Given the description of an element on the screen output the (x, y) to click on. 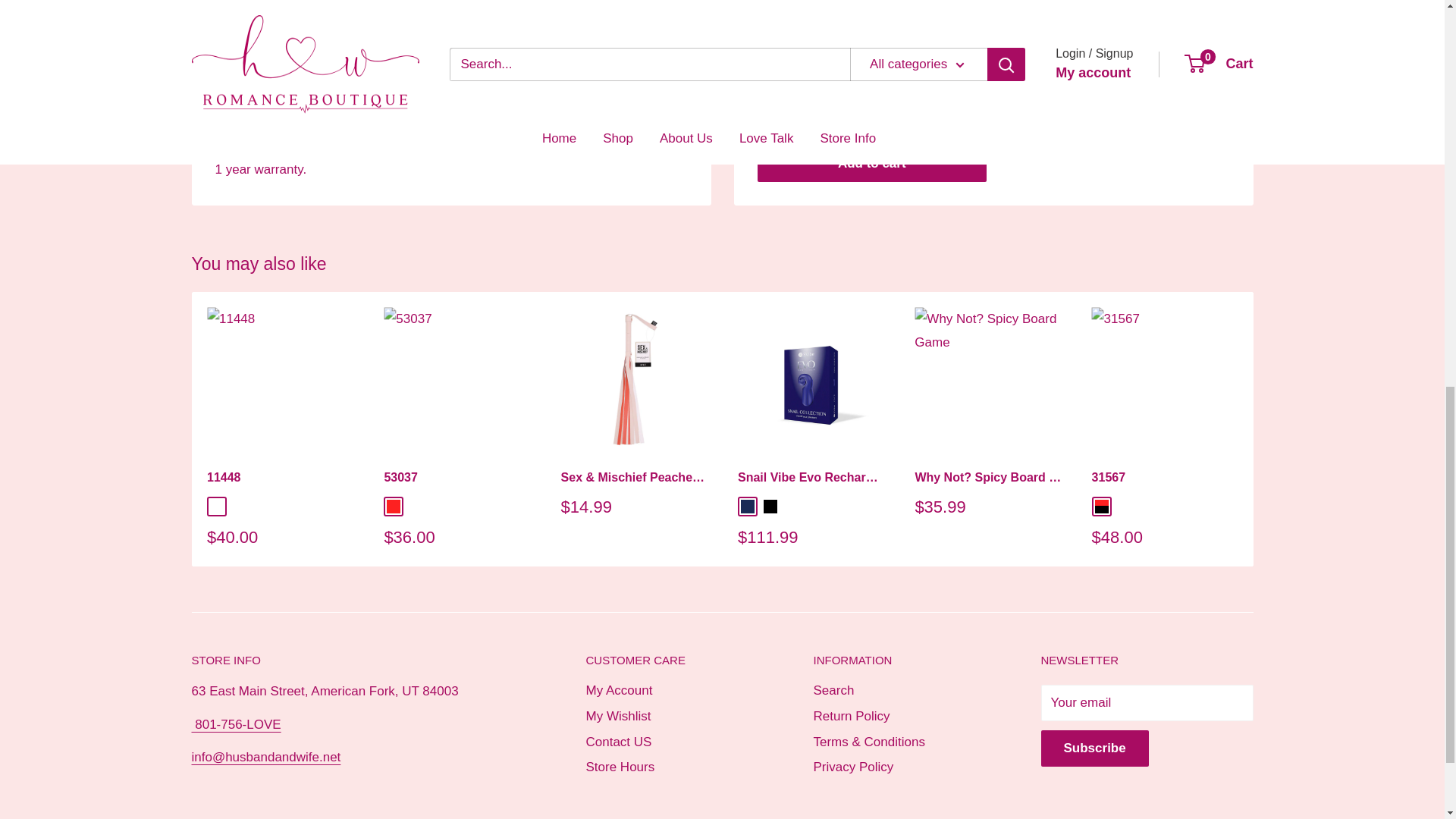
Navy (746, 506)
Red (393, 506)
Black (769, 506)
